Given the description of an element on the screen output the (x, y) to click on. 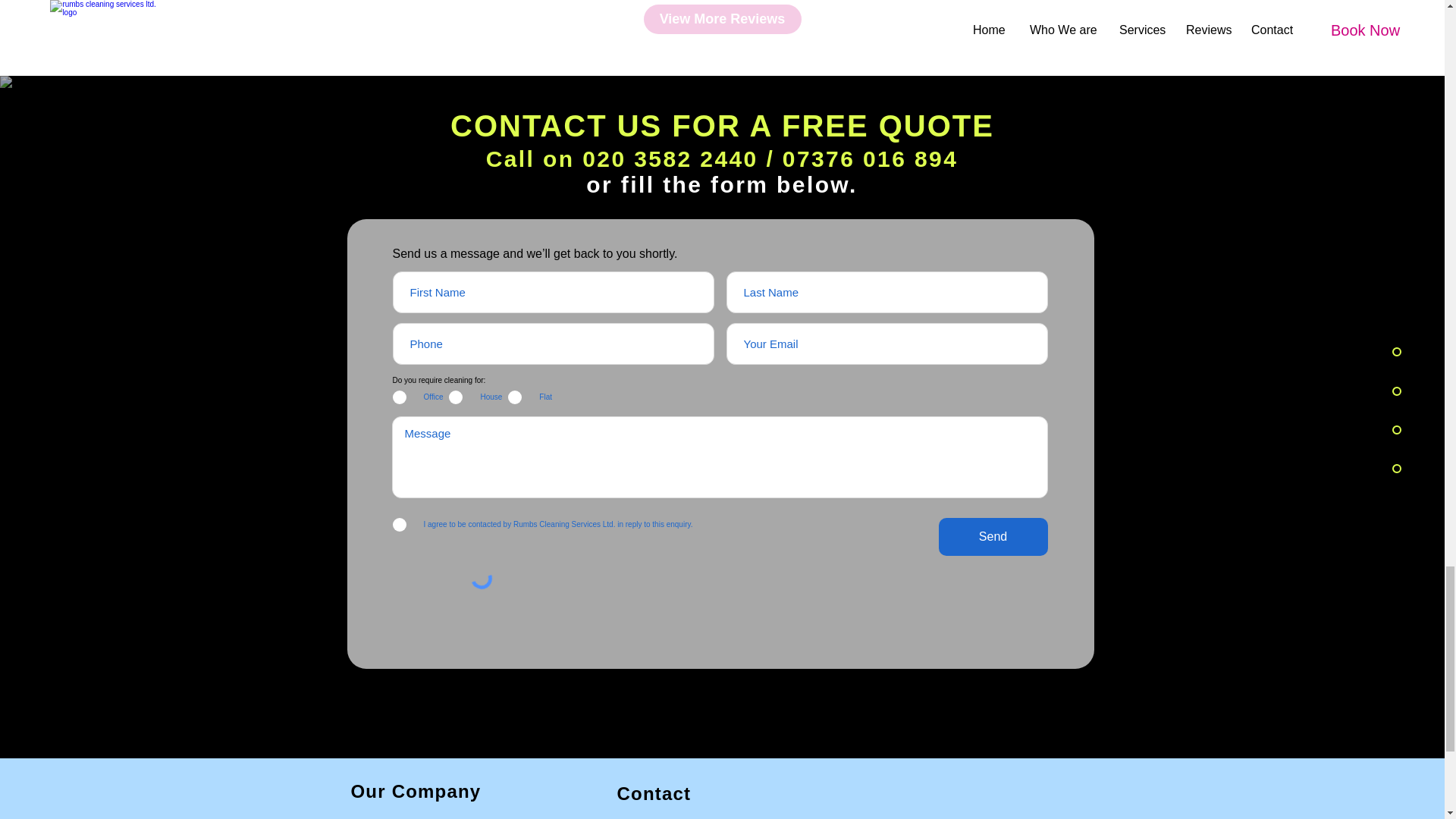
Send (993, 536)
